Given the description of an element on the screen output the (x, y) to click on. 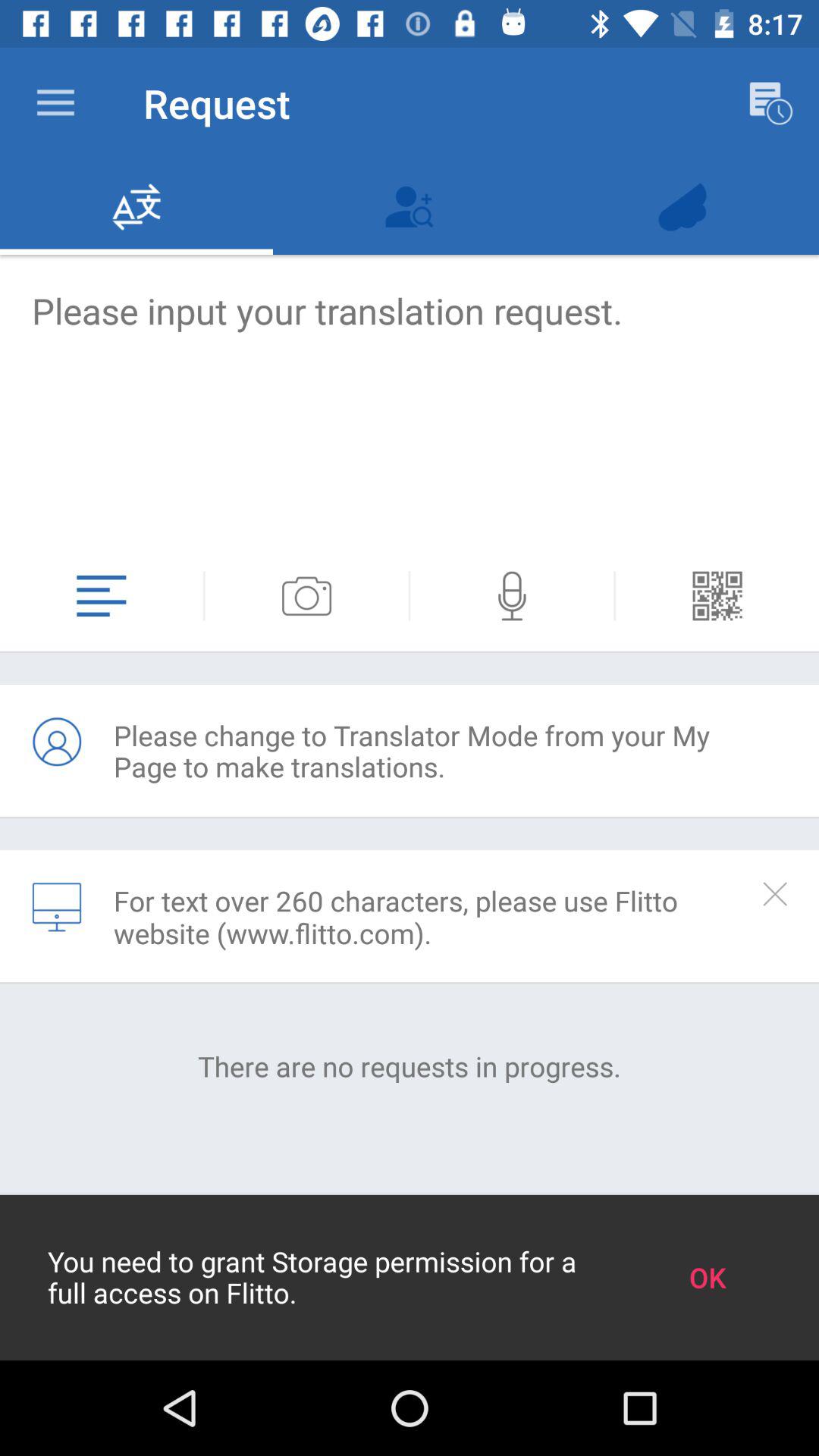
press the icon above the please change to app (511, 596)
